Given the description of an element on the screen output the (x, y) to click on. 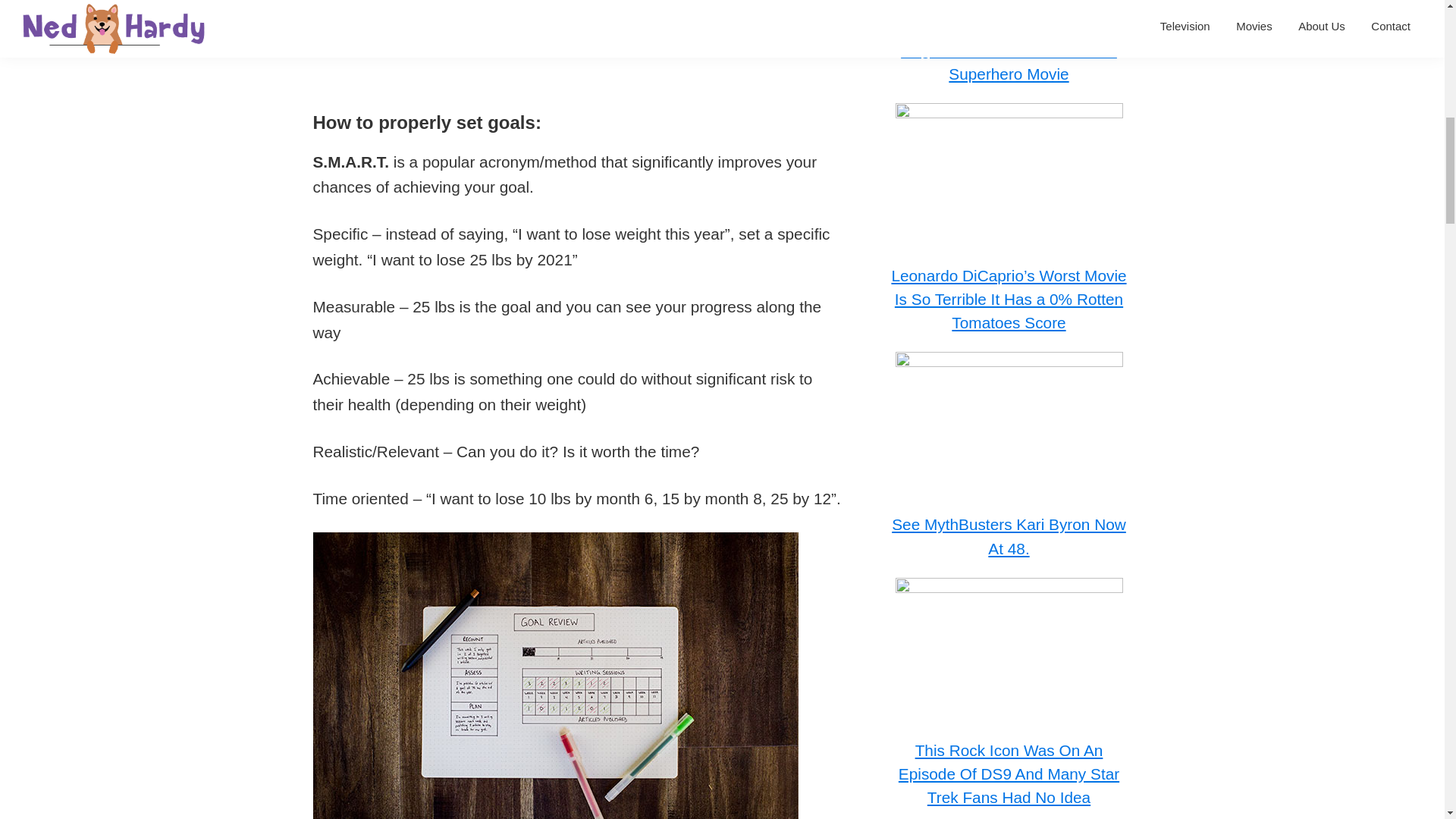
See MythBusters Kari Byron Now At 48. (1008, 535)
